Given the description of an element on the screen output the (x, y) to click on. 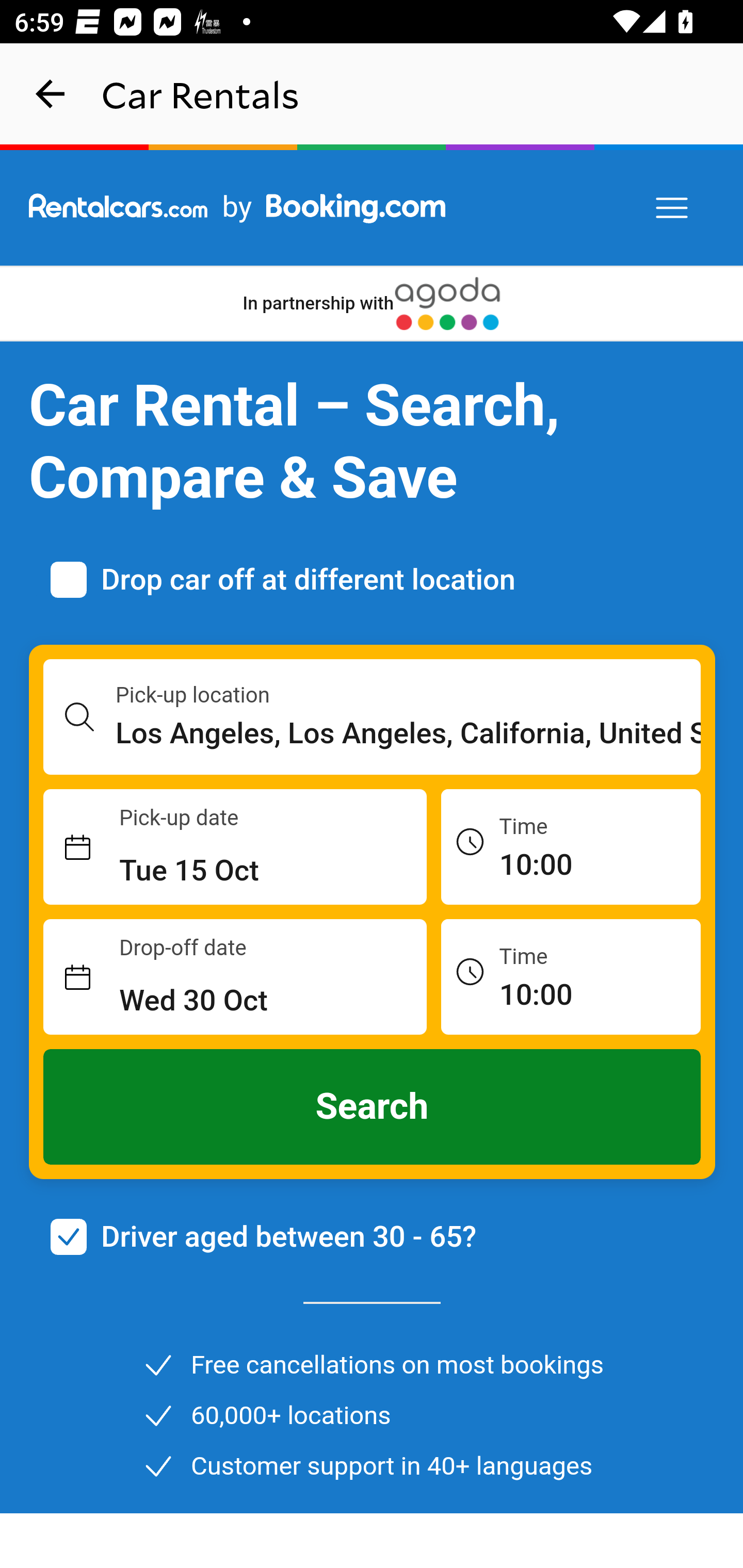
navigation_button (50, 93)
Menu (672, 208)
Pick-up date Tue 15 Oct (235, 847)
10:00 (571, 845)
Drop-off date Wed 30 Oct (235, 977)
10:00 (571, 975)
Search (372, 1106)
